Given the description of an element on the screen output the (x, y) to click on. 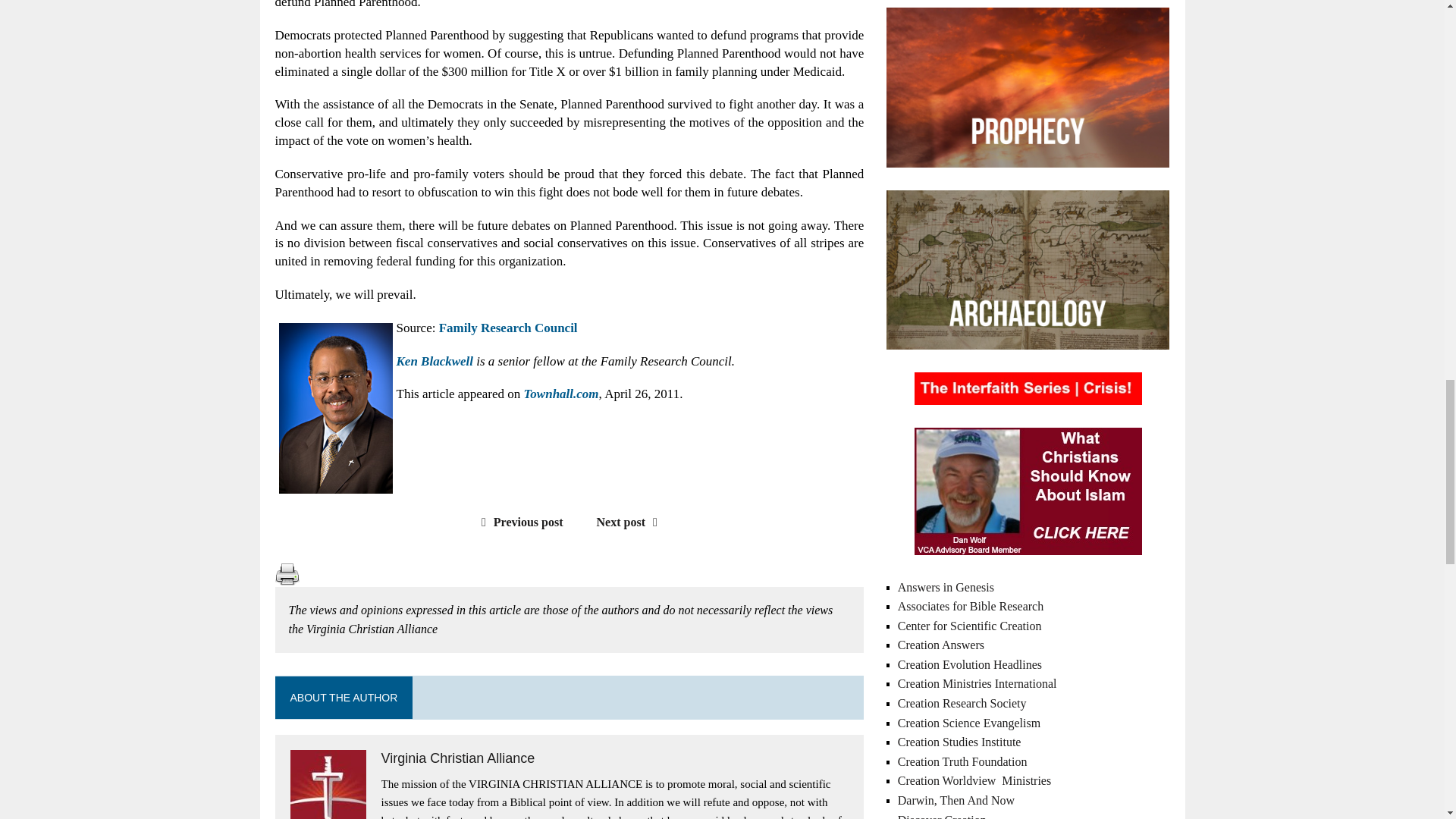
Previous post (518, 521)
Virginia Christian Alliance (457, 758)
Townhall.com (561, 393)
Next post (630, 521)
Ken Blackwell (434, 360)
Family Research Council (508, 327)
